Given the description of an element on the screen output the (x, y) to click on. 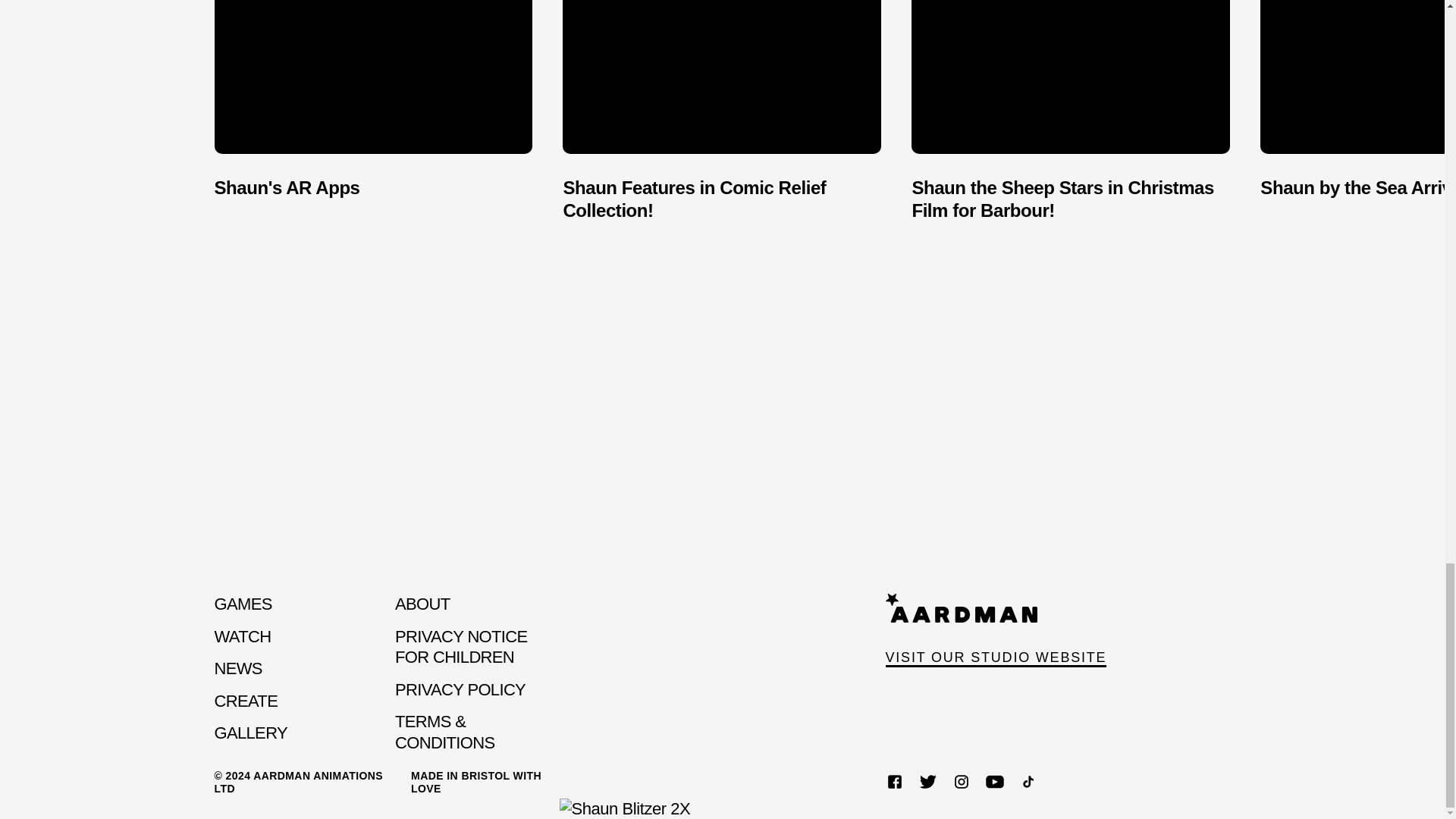
Shaun's AR Apps (373, 111)
Shaun the Sheep Stars in Christmas Film for Barbour! (1070, 111)
ABOUT (421, 603)
WATCH (242, 636)
NEWS (238, 668)
CREATE (246, 700)
VISIT OUR STUDIO WEBSITE (995, 630)
GAMES (243, 603)
GALLERY (250, 732)
Shaun Features in Comic Relief Collection! (721, 111)
